Given the description of an element on the screen output the (x, y) to click on. 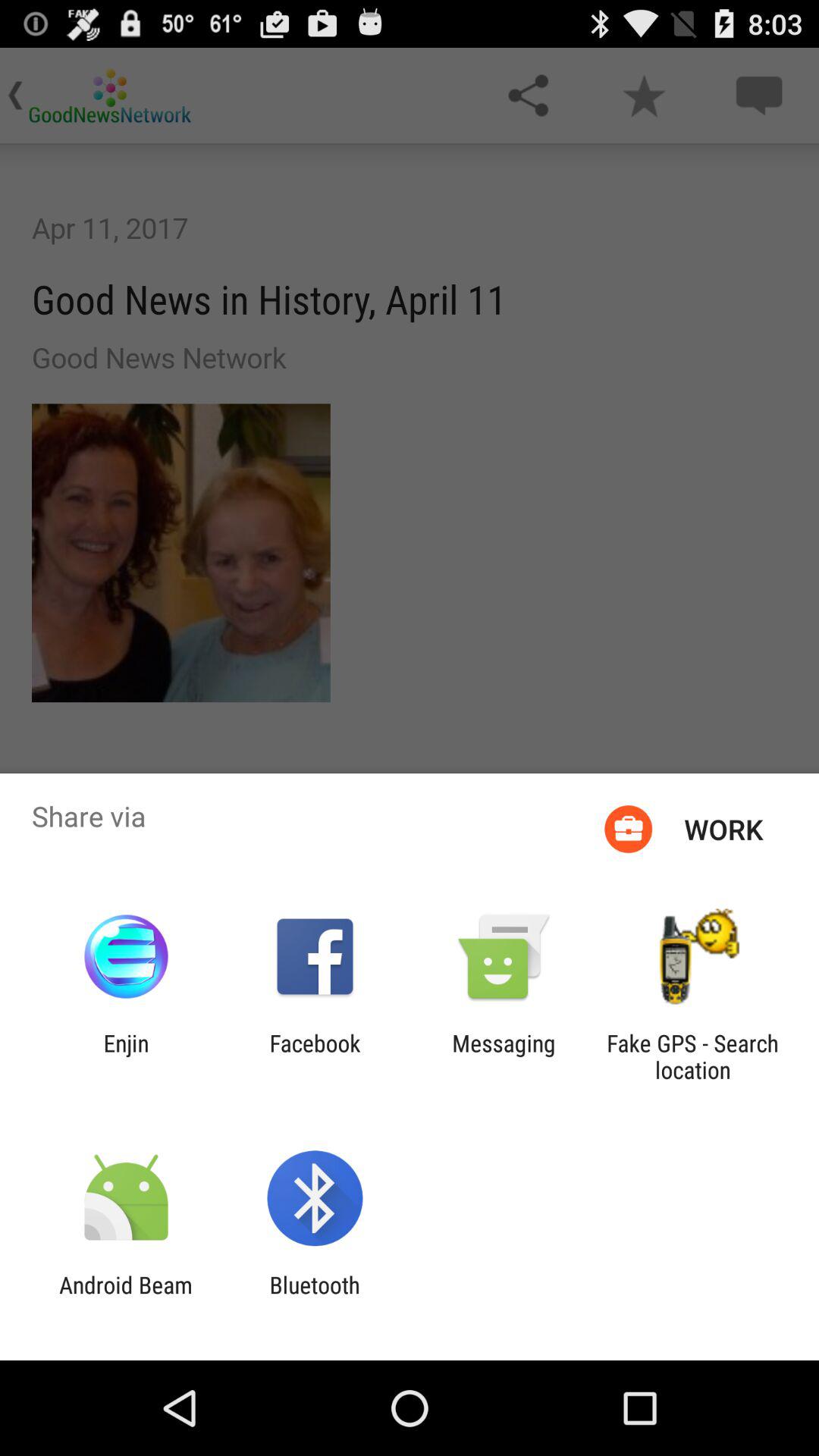
launch the item next to the android beam app (314, 1298)
